Given the description of an element on the screen output the (x, y) to click on. 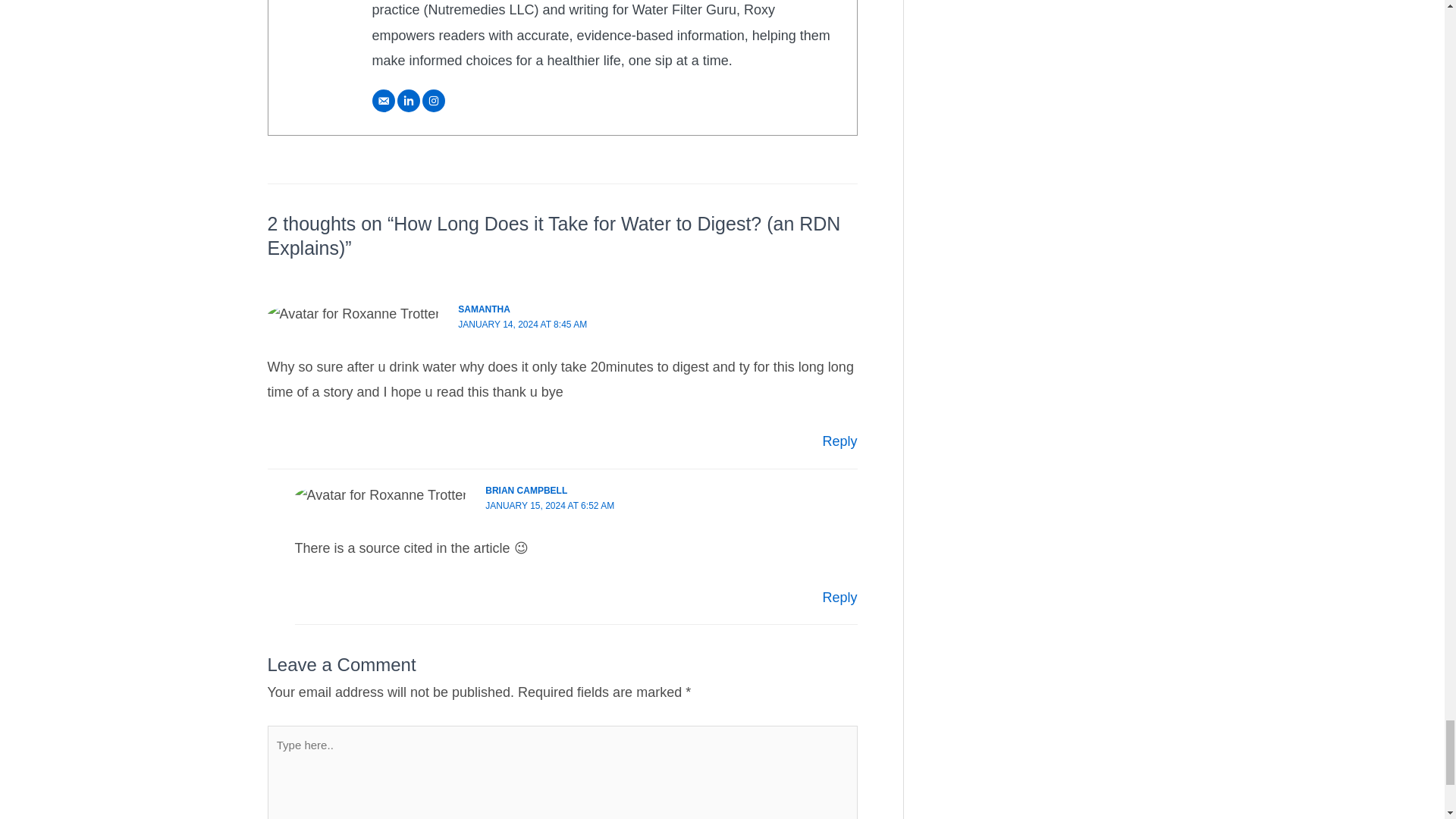
Gravatar for Roxanne Trotter (352, 314)
Gravatar for Roxanne Trotter (380, 495)
